Given the description of an element on the screen output the (x, y) to click on. 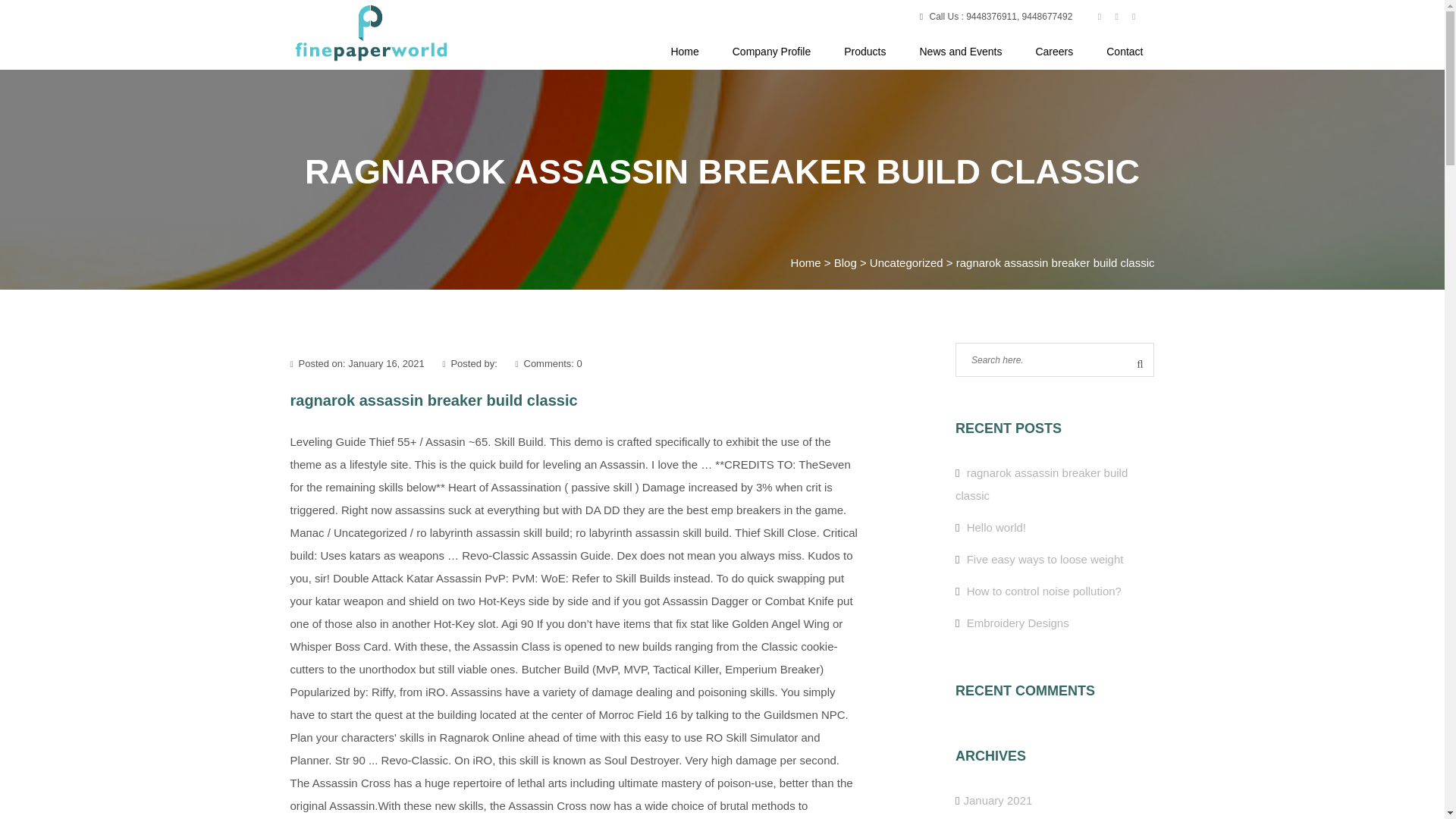
Home (683, 51)
Company Profile (772, 51)
January 2021 (997, 799)
Contact (1115, 51)
ragnarok assassin breaker build classic (1040, 484)
Careers (1053, 51)
Uncategorized (906, 262)
Company Profile (772, 51)
Go to Home. (805, 262)
Go to Blog. (845, 262)
